Given the description of an element on the screen output the (x, y) to click on. 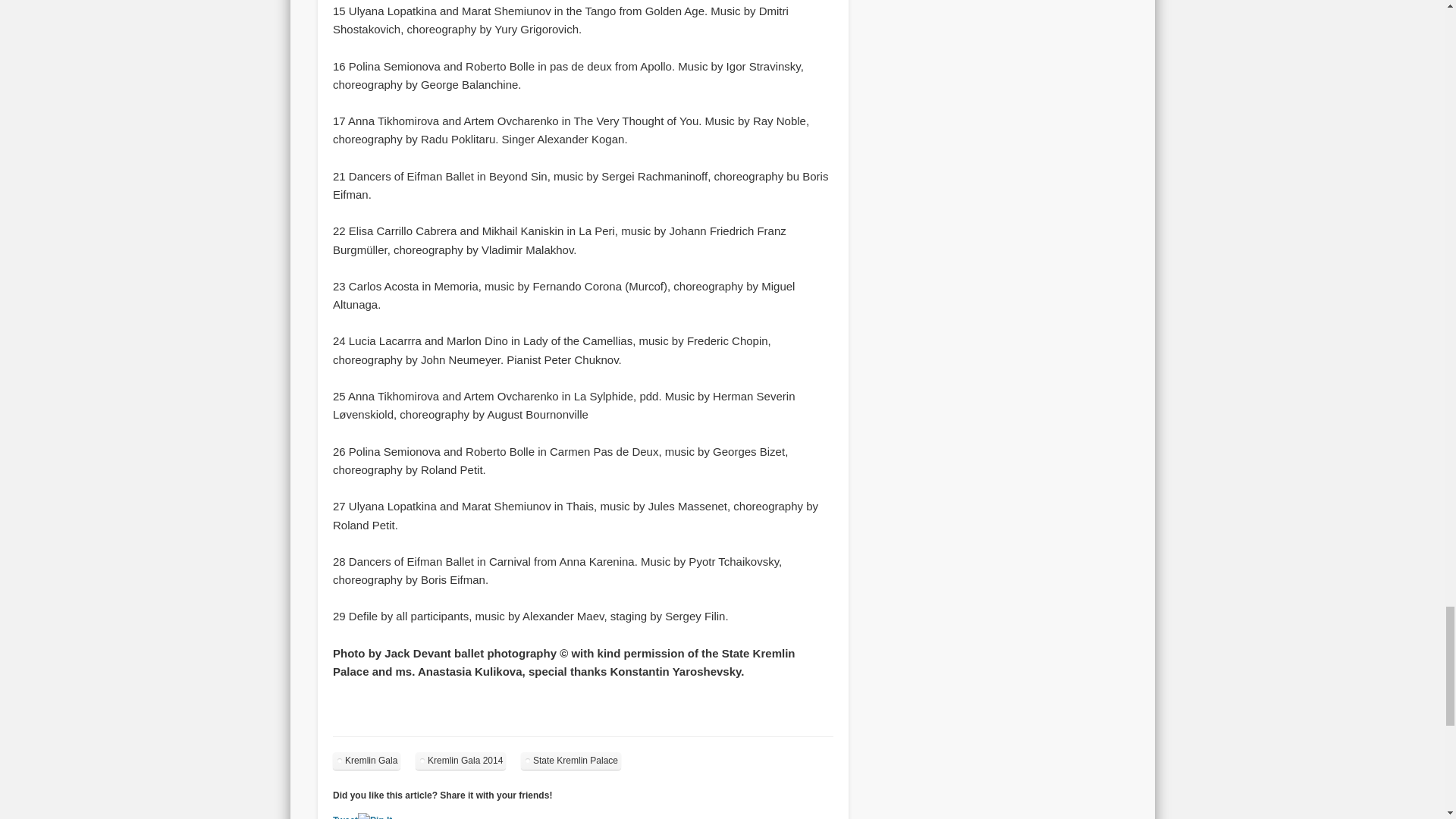
Kremlin Gala 2014 (459, 760)
State Kremlin Palace (571, 760)
Tweet (345, 816)
Kremlin Gala (366, 760)
